Given the description of an element on the screen output the (x, y) to click on. 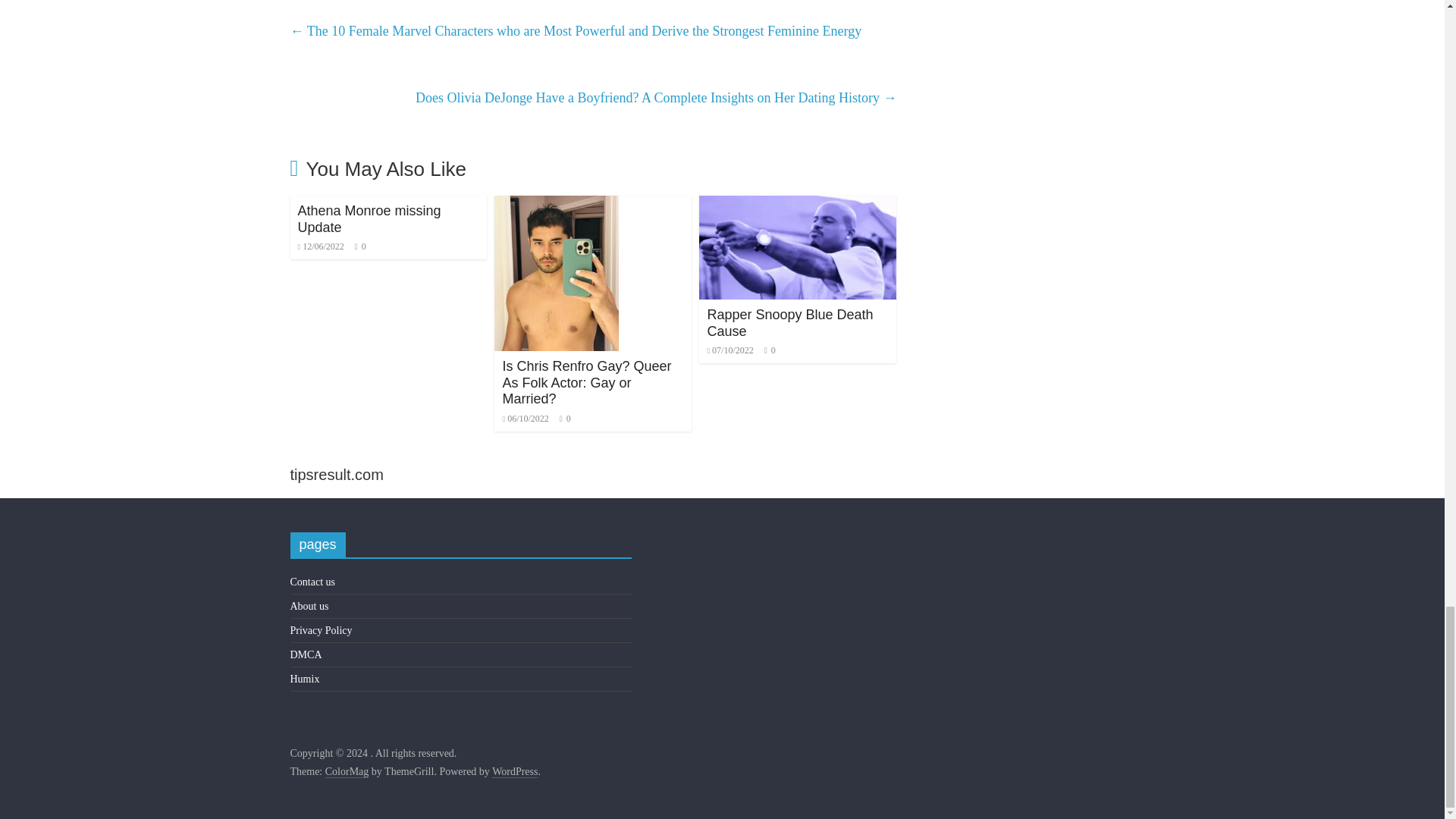
8:50 am (729, 349)
ColorMag (346, 771)
12:37 pm (320, 245)
Is Chris Renfro Gay? Queer As Folk Actor: Gay or Married? (586, 382)
7:50 am (525, 418)
Athena Monroe missing Update (369, 219)
Is Chris Renfro Gay? Queer As Folk Actor: Gay or Married? (586, 382)
Is Chris Renfro Gay? Queer As Folk Actor: Gay or Married? (556, 205)
Rapper Snoopy Blue Death Cause (789, 323)
About us (309, 605)
